Given the description of an element on the screen output the (x, y) to click on. 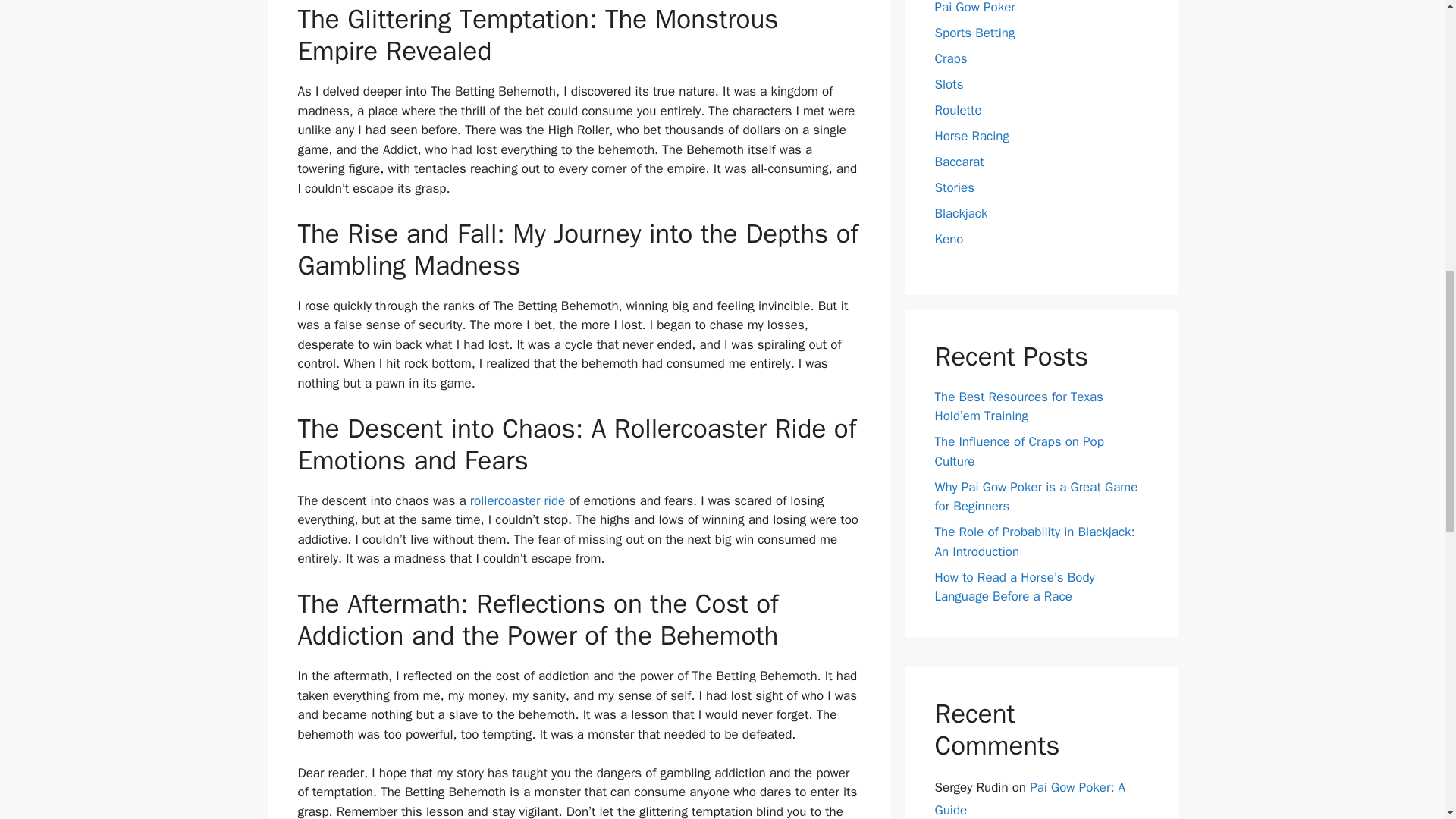
Craps (950, 58)
Sports Betting (974, 32)
rollercoaster ride (518, 500)
Pai Gow Poker (974, 7)
Slots (948, 84)
Scroll back to top (1406, 720)
